Given the description of an element on the screen output the (x, y) to click on. 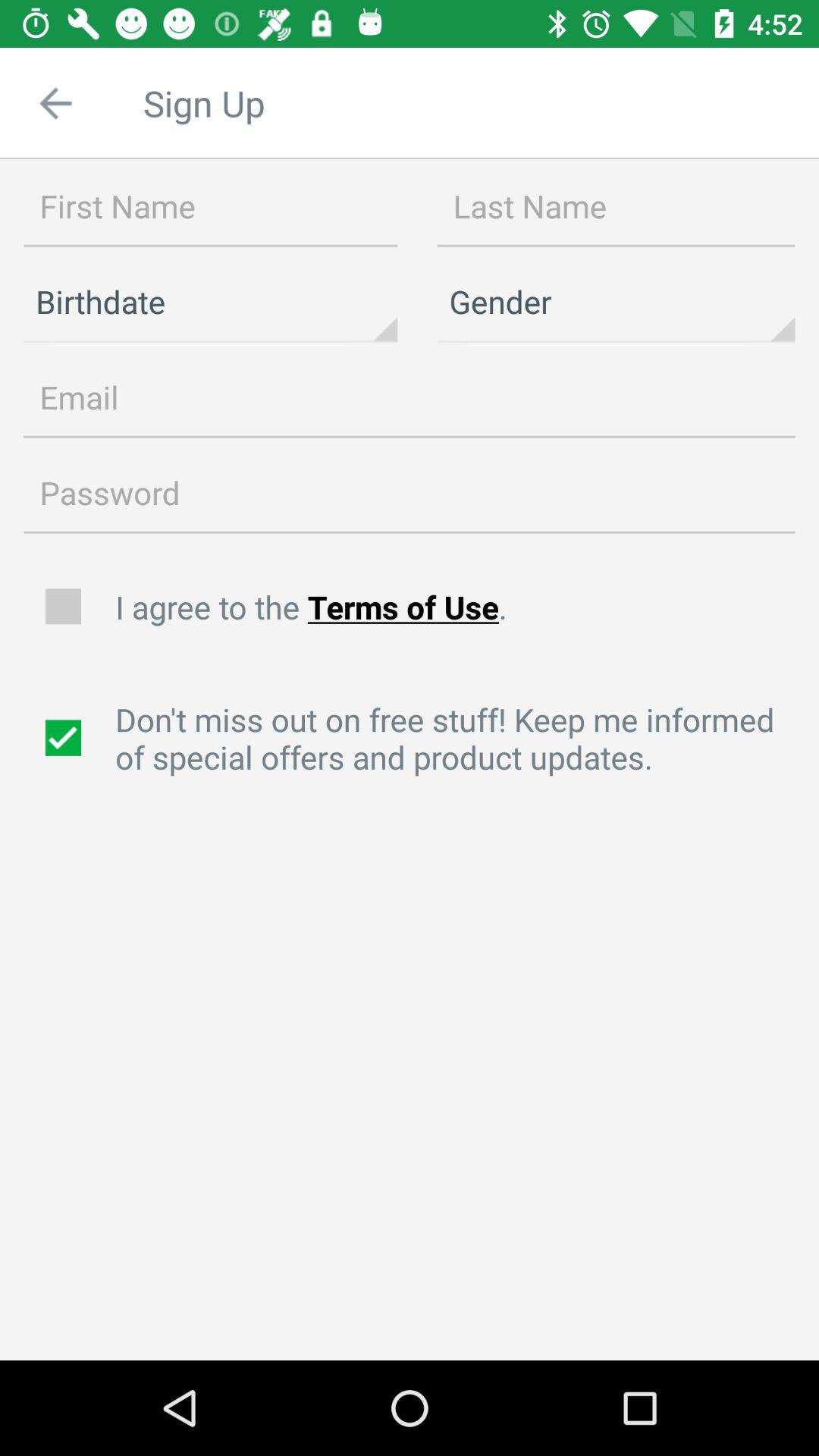
select item to the left of don t miss icon (65, 738)
